Given the description of an element on the screen output the (x, y) to click on. 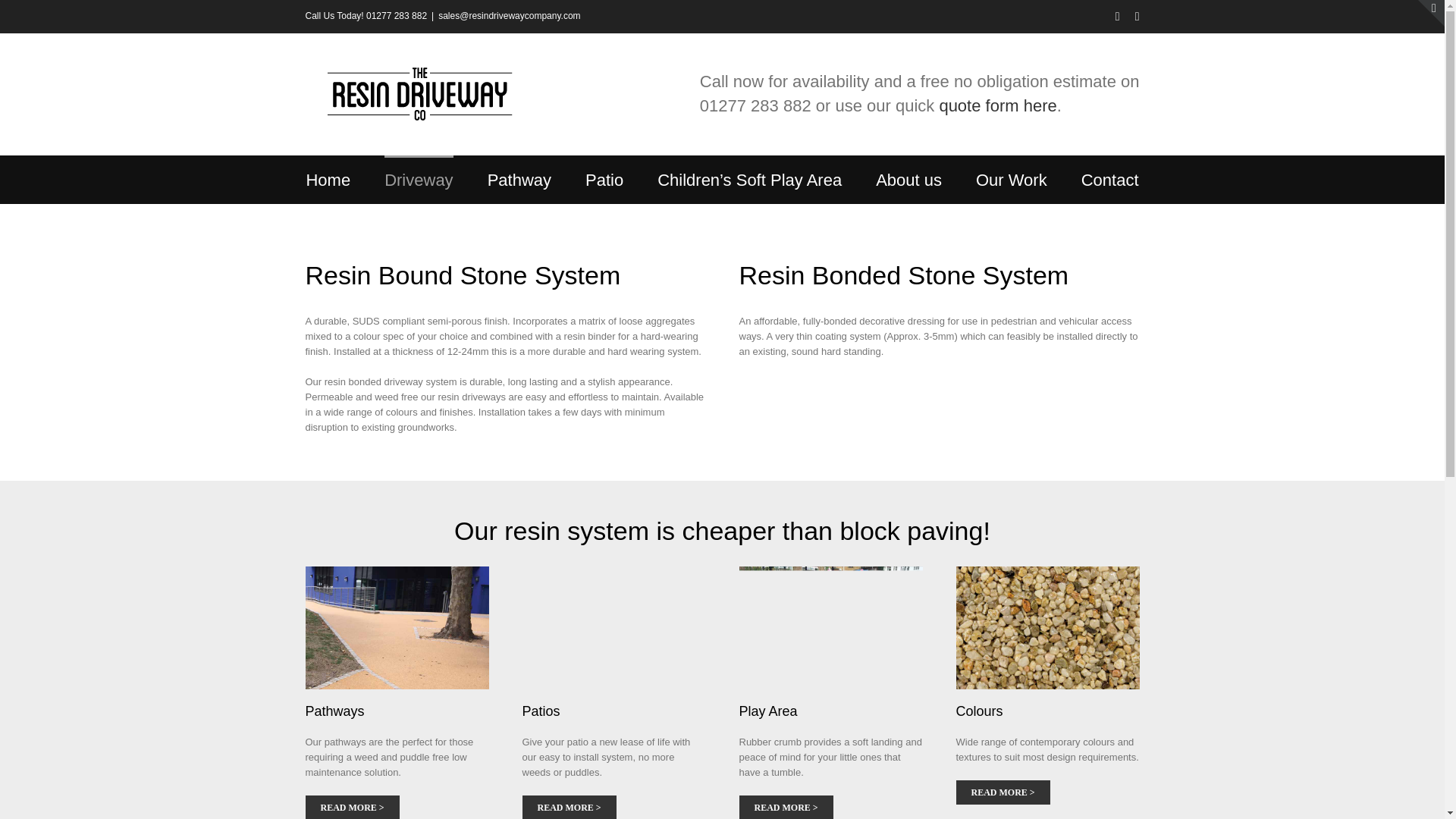
About us (909, 179)
Our Work (1010, 179)
resin-pathway-720 (395, 627)
resin-patio-720 (612, 627)
Contact (1109, 179)
rubber-play-area-720 (829, 627)
quote form here (998, 105)
Pathway (519, 179)
resin-broacast (1046, 627)
Home (327, 179)
